Given the description of an element on the screen output the (x, y) to click on. 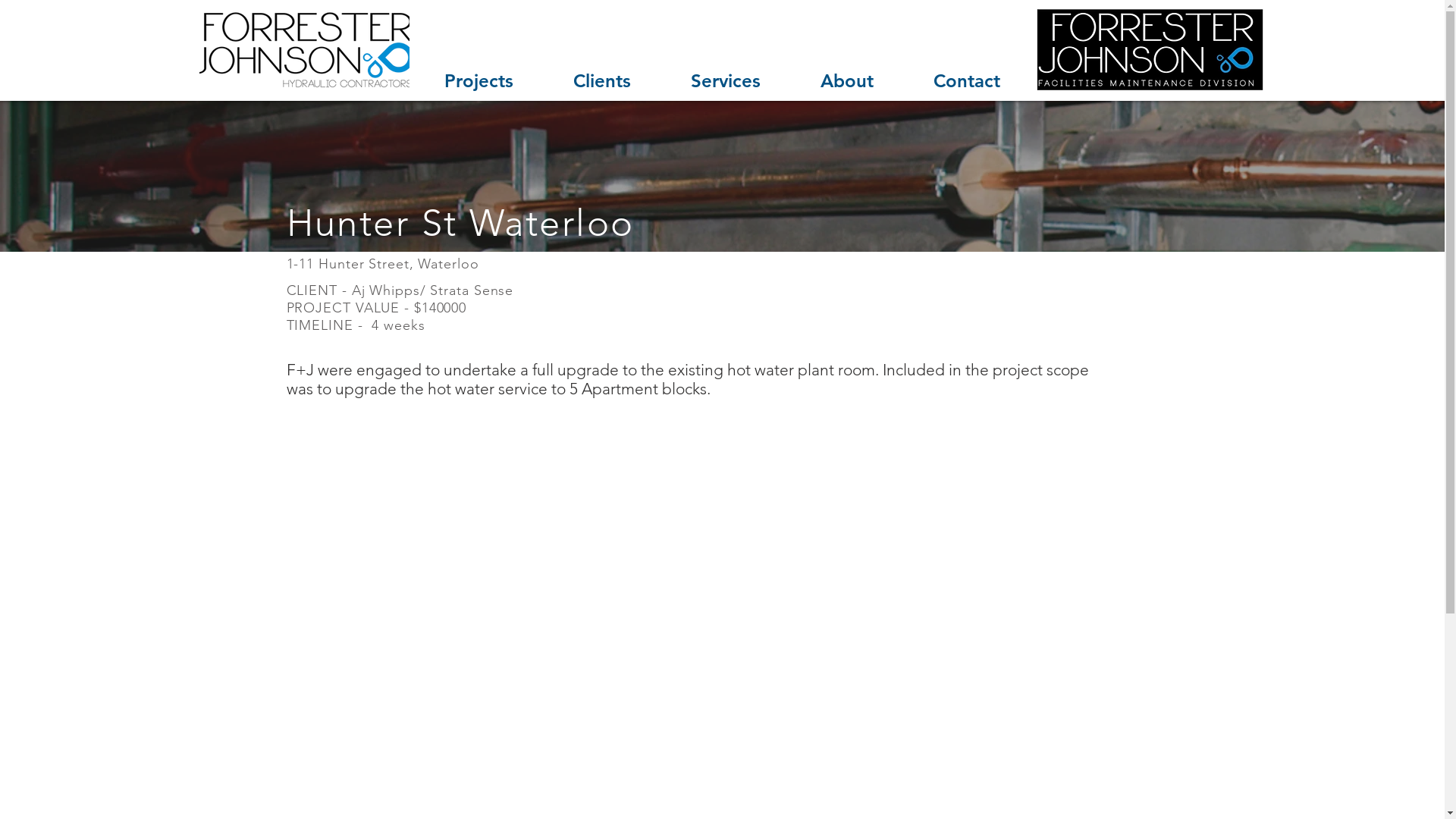
THE LOGO.png Element type: hover (303, 49)
Clients Element type: text (601, 80)
Contact Element type: text (966, 80)
About Element type: text (846, 80)
Services Element type: text (725, 80)
Projects Element type: text (478, 80)
